Given the description of an element on the screen output the (x, y) to click on. 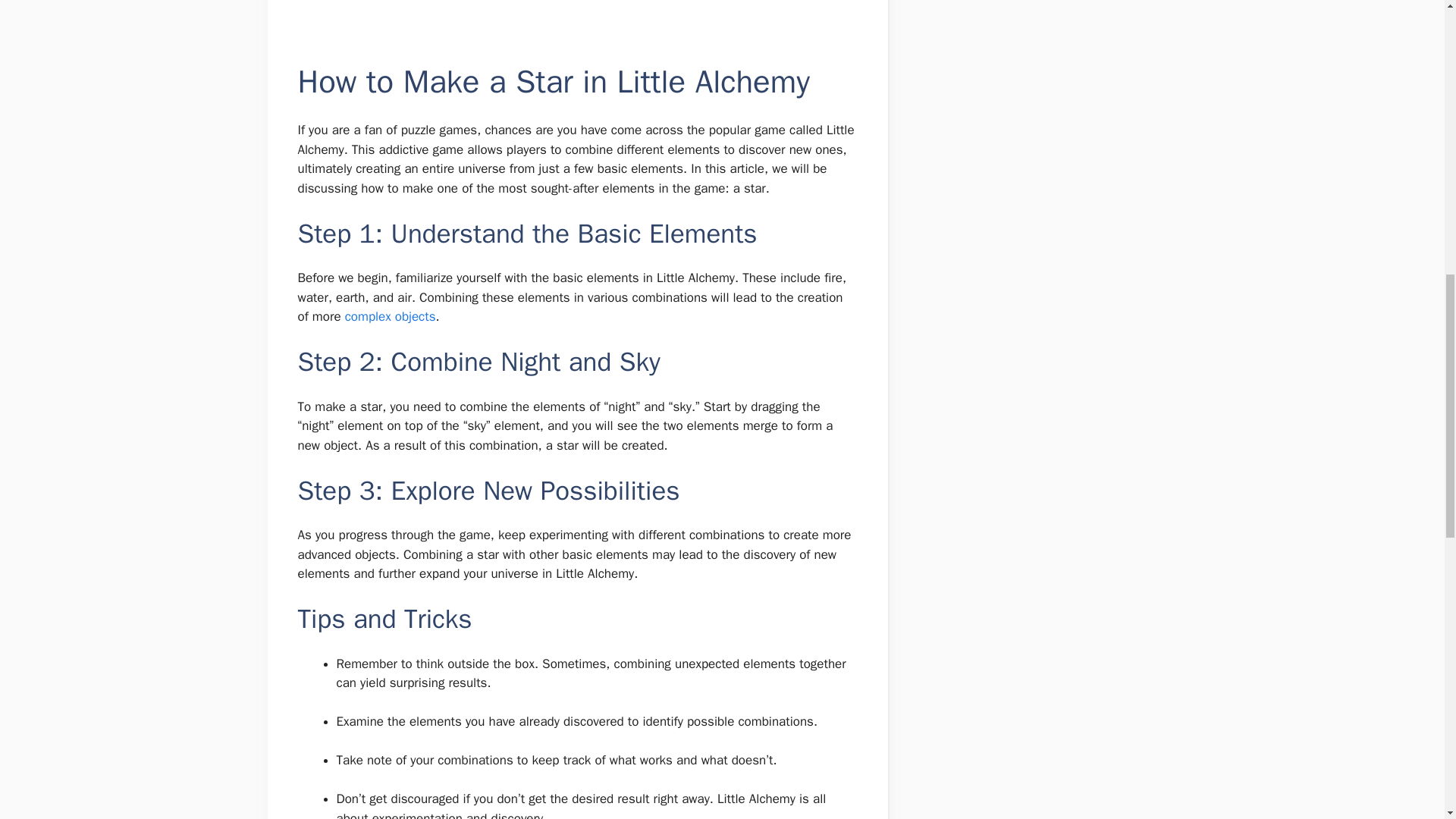
complex objects (390, 316)
how to make wild animal in little alchemy (390, 316)
